Given the description of an element on the screen output the (x, y) to click on. 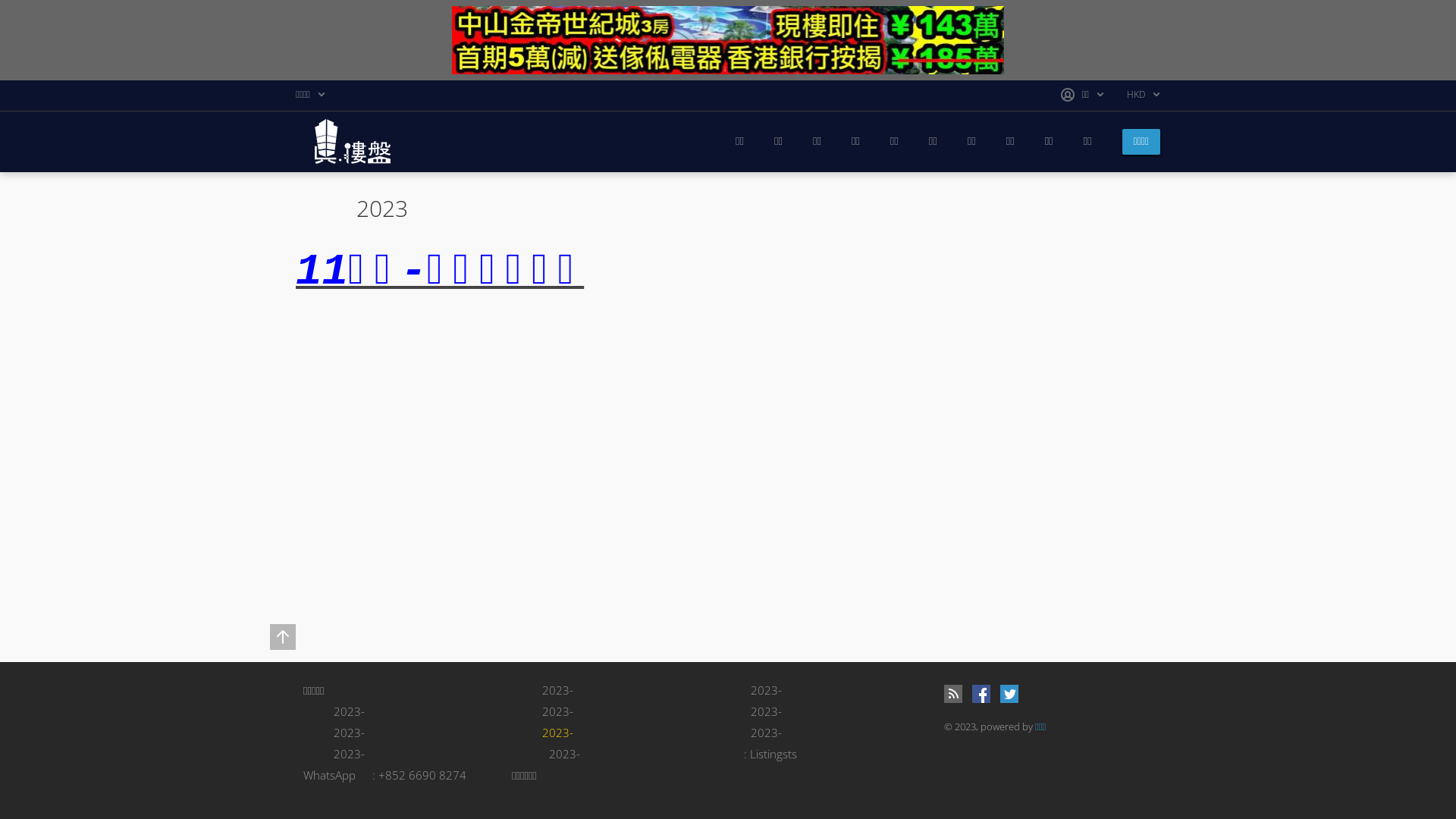
Join us on Facebook Element type: hover (981, 693)
Subscribe to RSS-feed Element type: hover (953, 693)
Join us on Twitter Element type: hover (1009, 693)
